Given the description of an element on the screen output the (x, y) to click on. 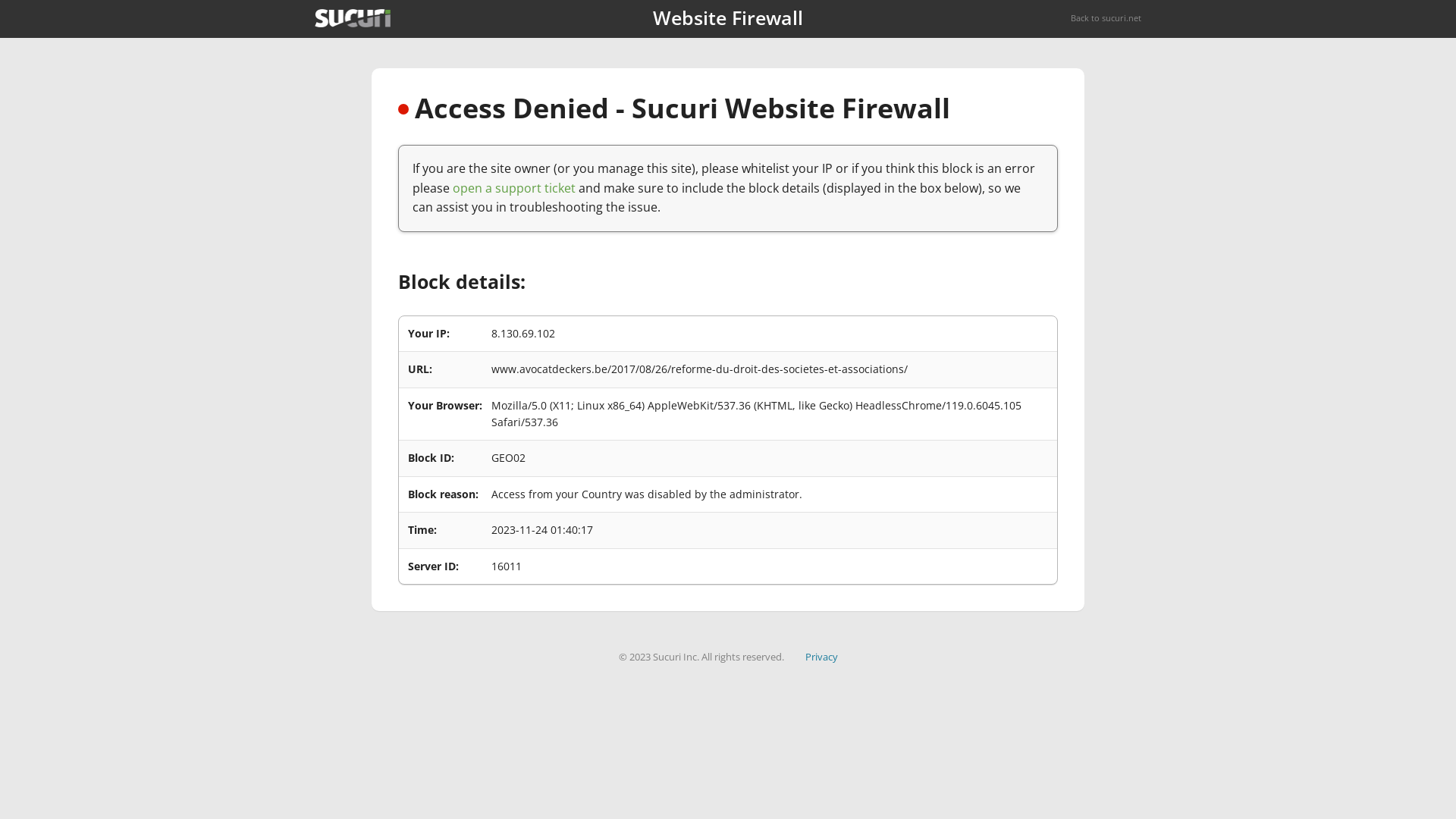
open a support ticket Element type: text (513, 187)
Back to sucuri.net Element type: text (1105, 18)
Privacy Element type: text (821, 656)
